Given the description of an element on the screen output the (x, y) to click on. 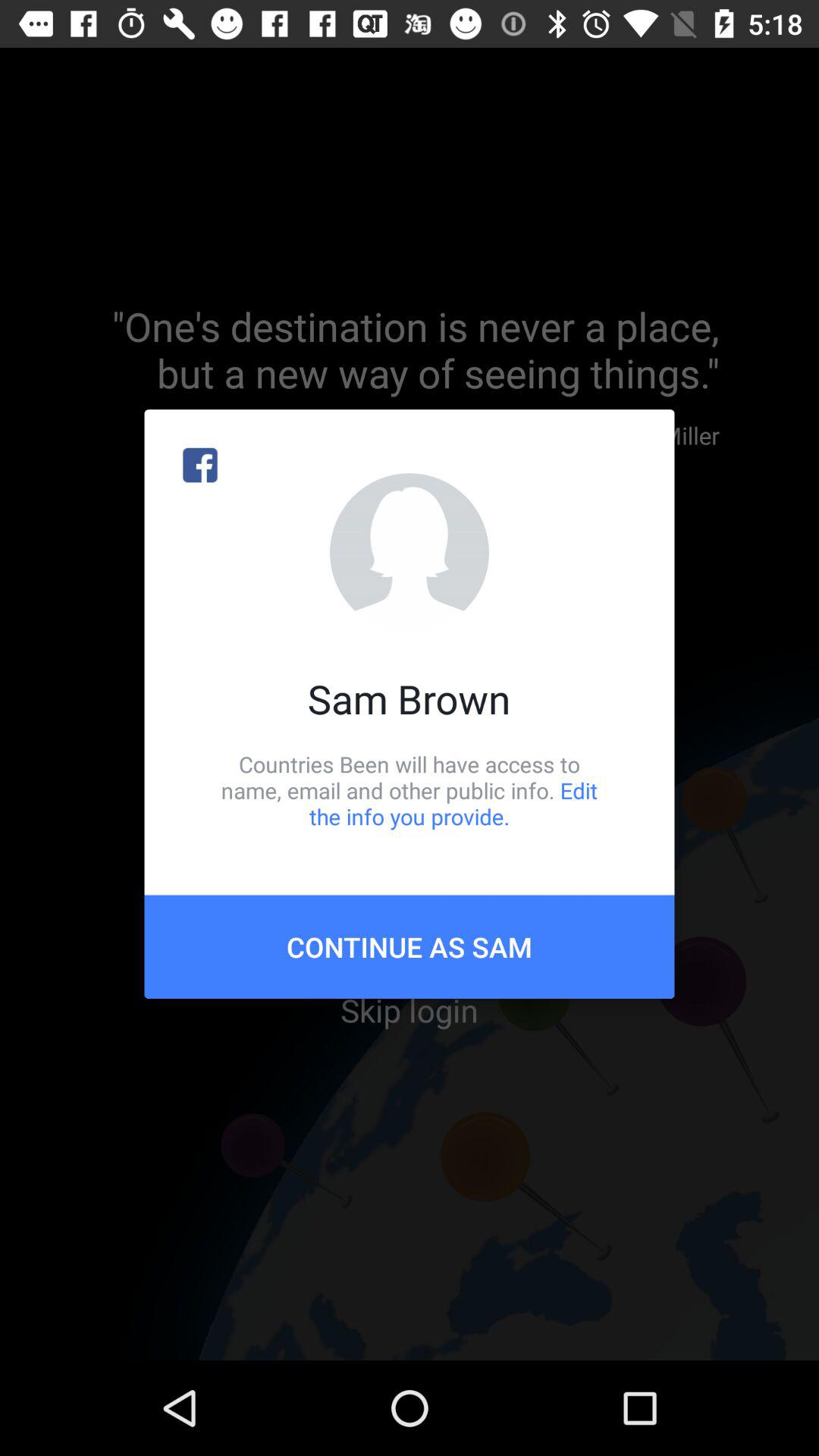
select the continue as sam item (409, 946)
